Given the description of an element on the screen output the (x, y) to click on. 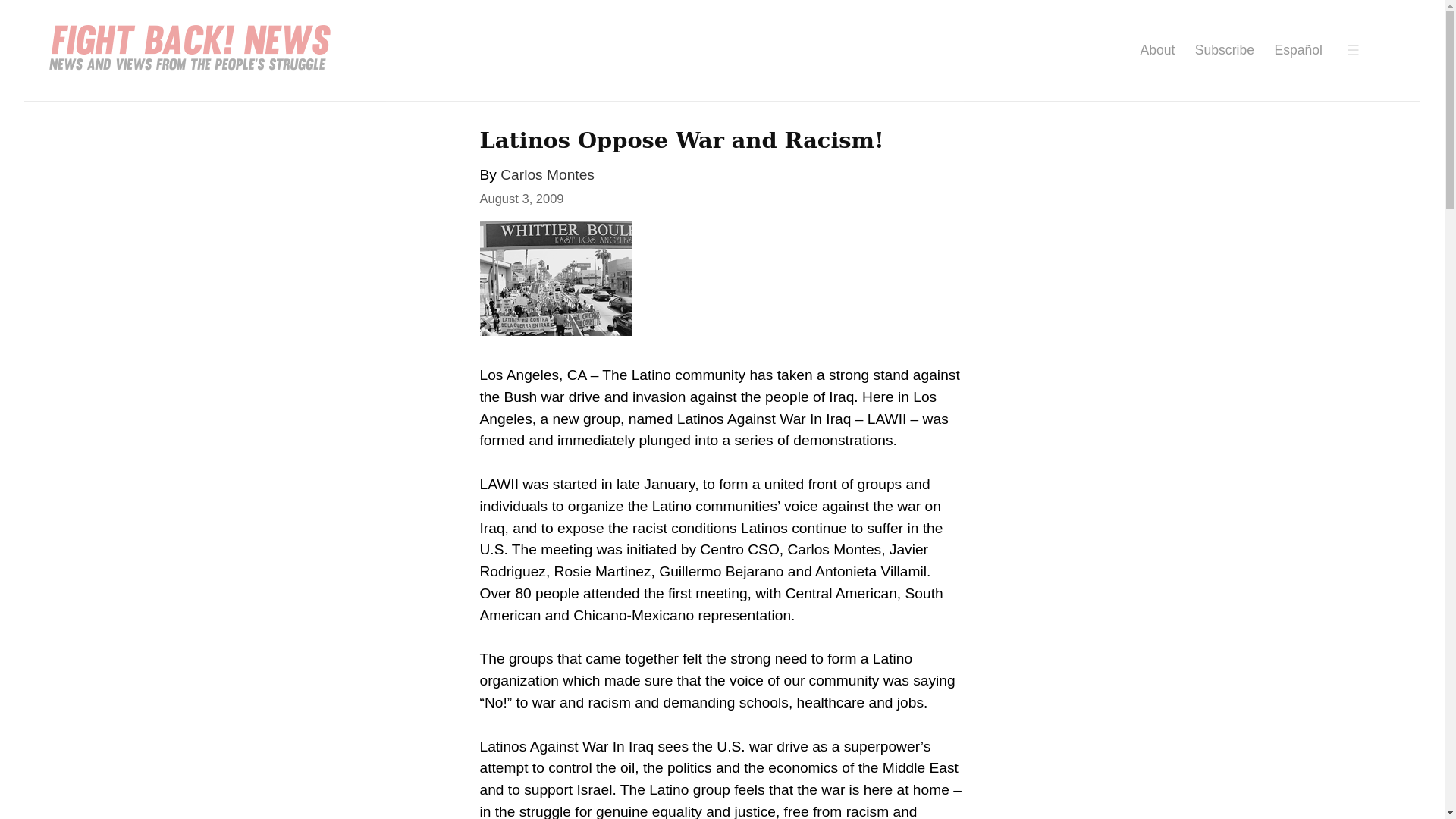
Carlos Montes (547, 174)
Subscribe (1224, 50)
About (1157, 50)
